Given the description of an element on the screen output the (x, y) to click on. 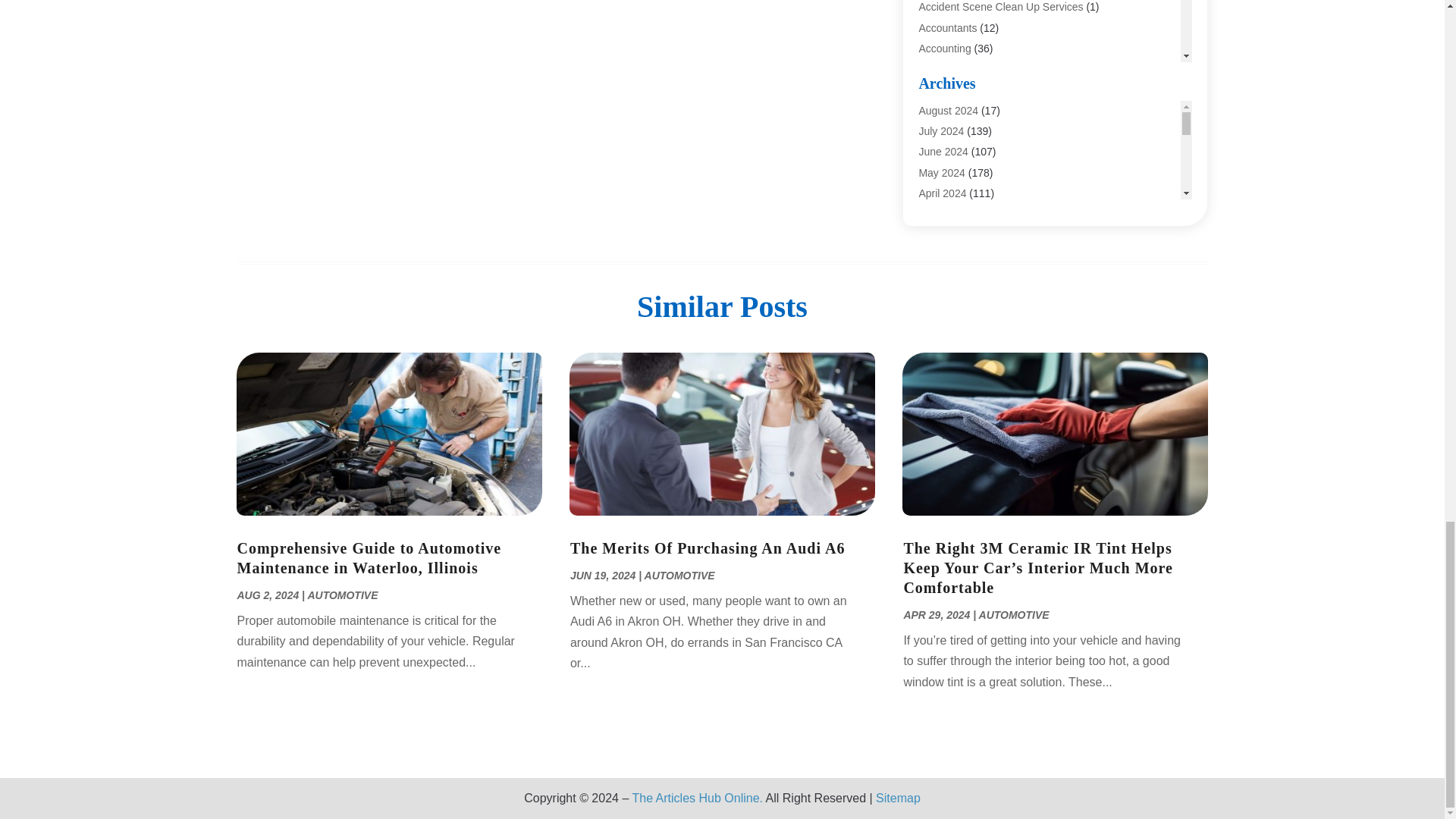
Accident Scene Clean Up Services (1000, 6)
Adoption (938, 110)
Accountants (947, 28)
Accounting Services (966, 69)
Accounting (944, 48)
Addiction Treatment Center (982, 89)
